Given the description of an element on the screen output the (x, y) to click on. 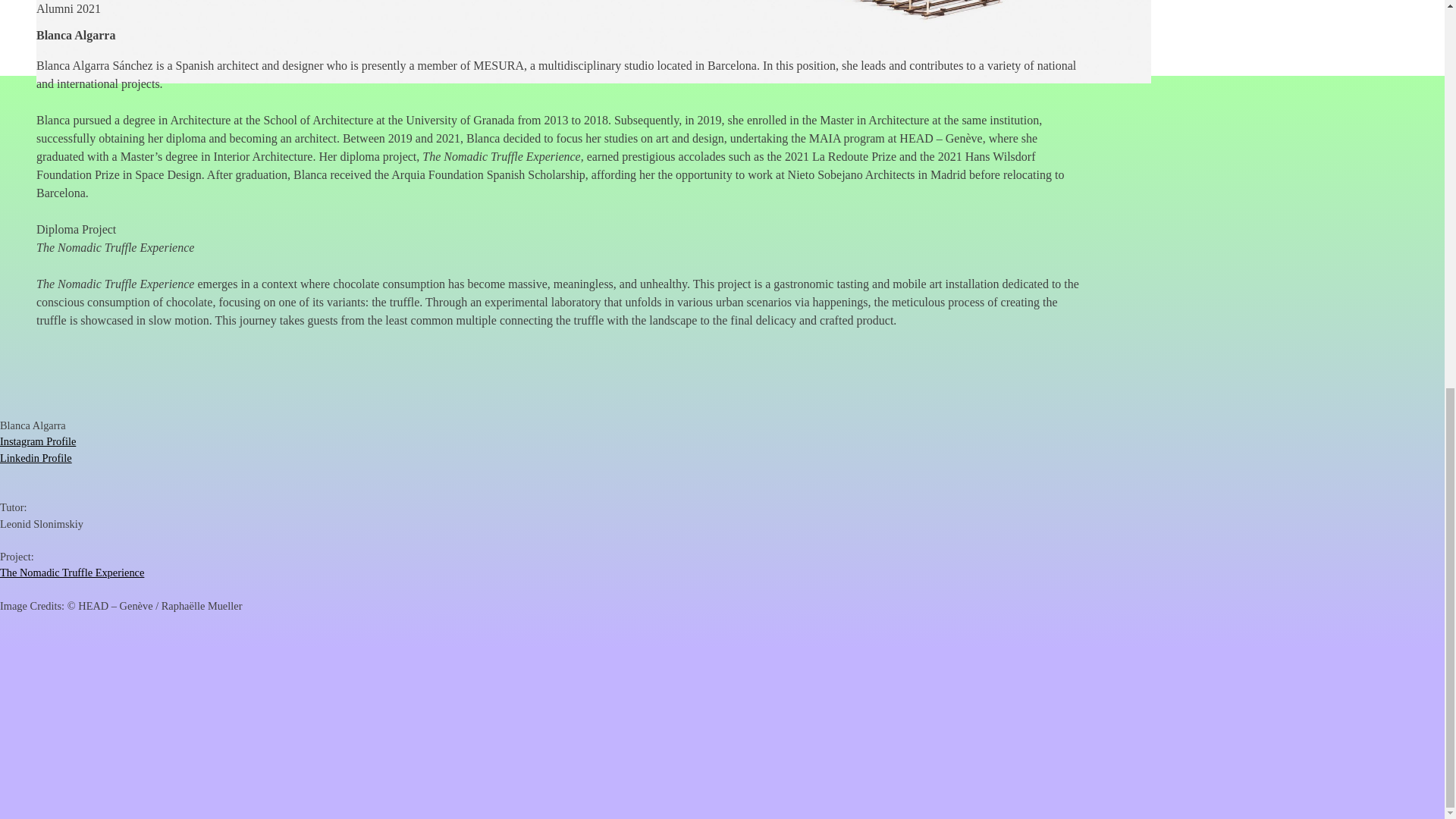
Instagram Profile (37, 440)
The Nomadic Truffle Experience (72, 572)
Linkedin Profile (35, 458)
